Given the description of an element on the screen output the (x, y) to click on. 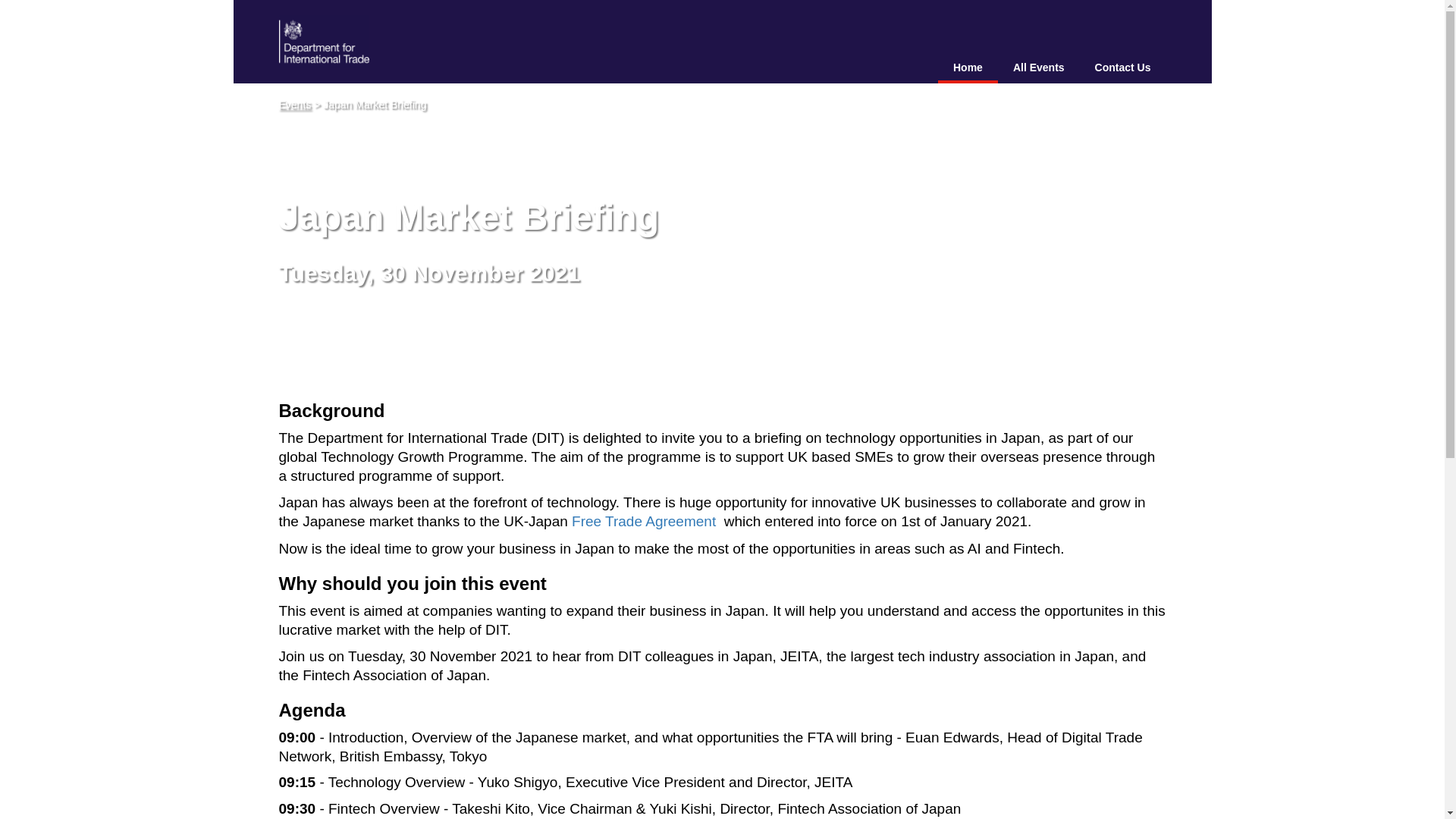
Home (967, 67)
Events (295, 104)
All Events (1038, 67)
Free Trade Agreement  (645, 521)
Contact Us (1123, 67)
